Given the description of an element on the screen output the (x, y) to click on. 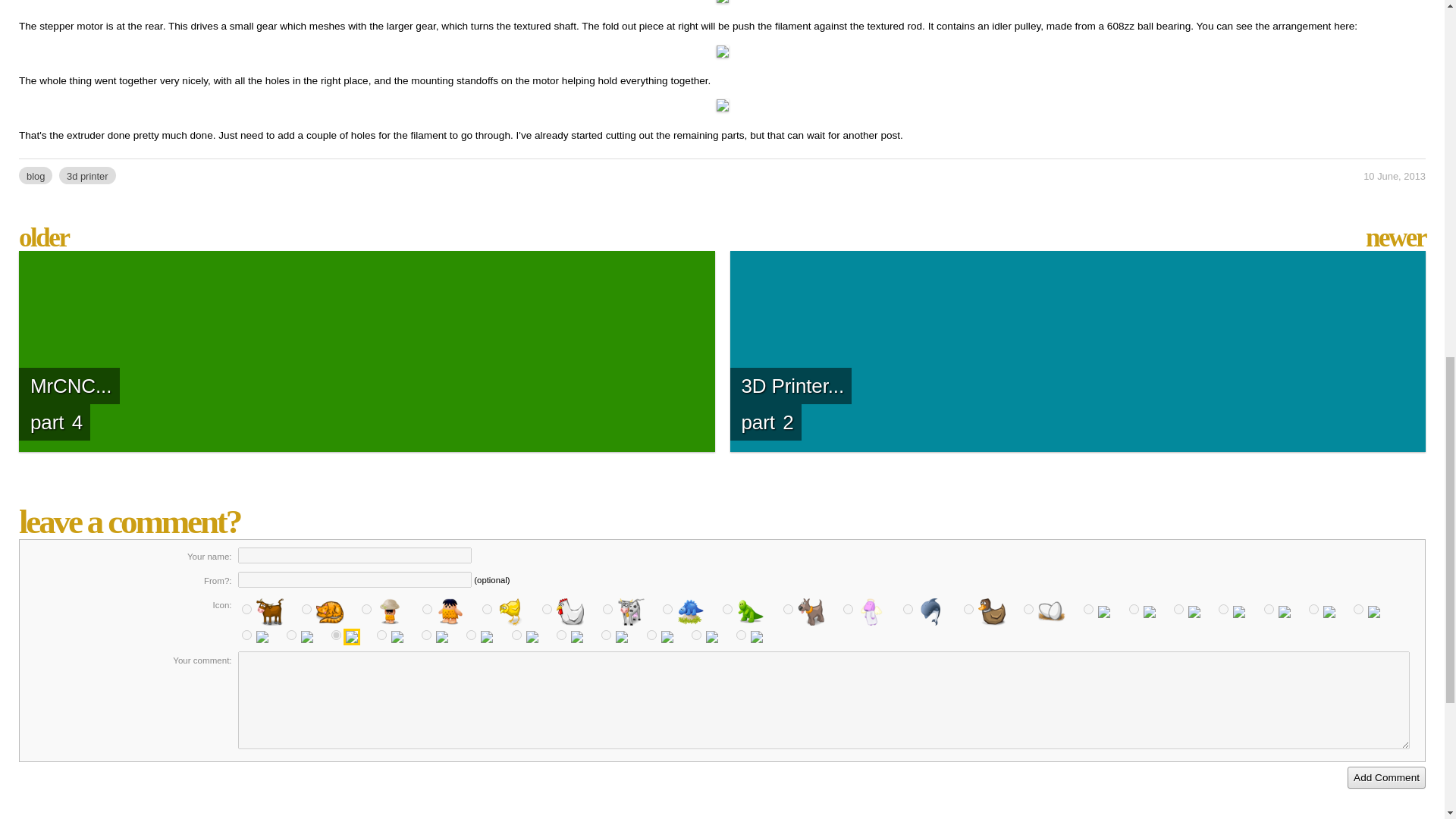
3d printer (87, 175)
Giraffe2.png (1133, 609)
Eggs.png (1028, 609)
Dog.png (788, 609)
DoggyAngel.png (848, 609)
blog (35, 175)
Bull.png (246, 609)
Duck.png (968, 609)
Chicken.png (546, 609)
Caveman.png (366, 609)
